Given the description of an element on the screen output the (x, y) to click on. 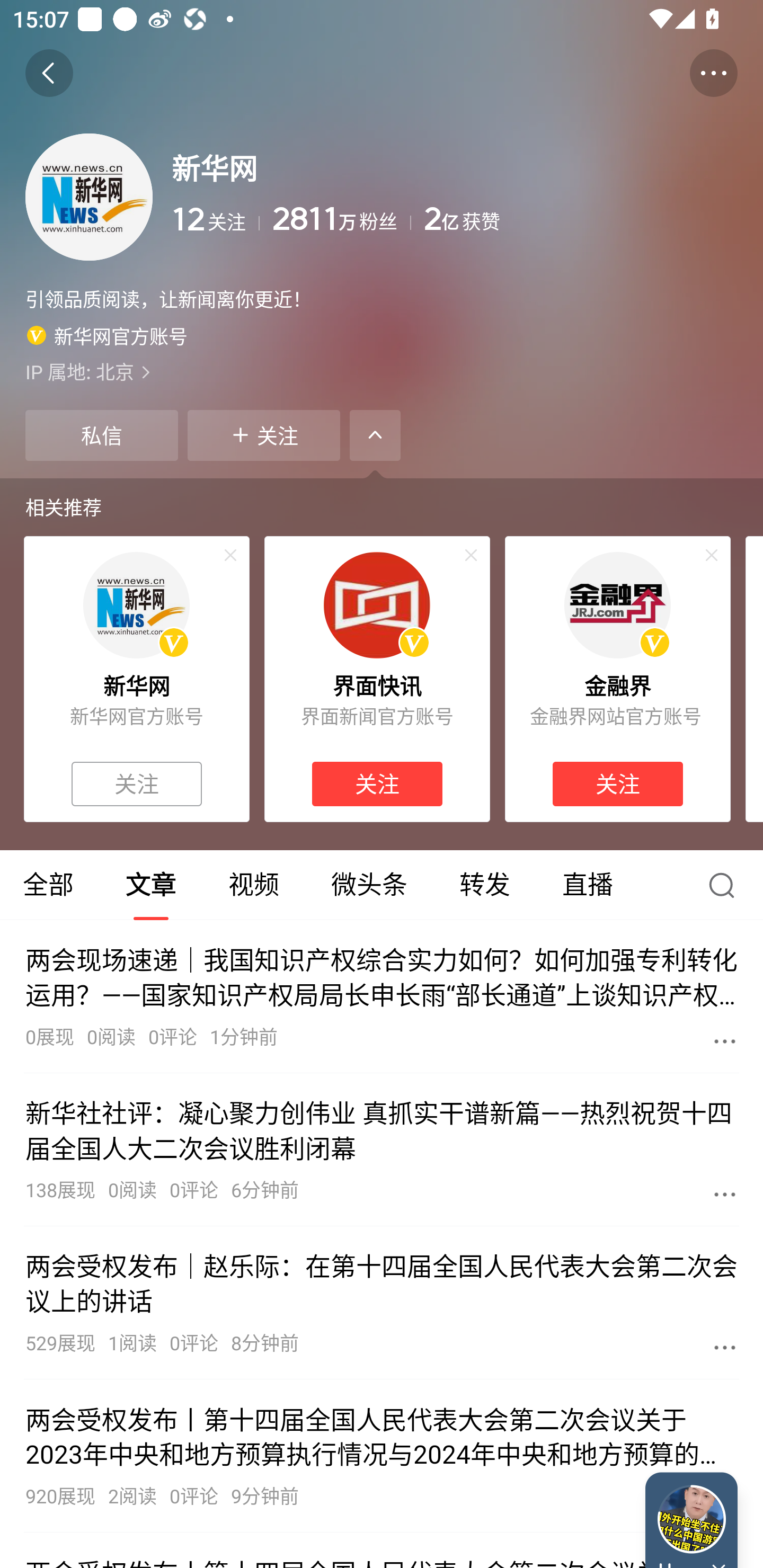
返回 (49, 72)
更多操作 (713, 72)
头像 (88, 196)
12 关注 (215, 219)
2811万 粉丝 (341, 219)
2亿 获赞 (580, 219)
新华网官方账号 (106, 335)
IP 属地: 北京 (381, 371)
私信 (101, 434)
     关注 (263, 434)
展开相关推荐，按钮 (374, 434)
新华网头像 新华网 新华网官方账号 关注 关注 不感兴趣 (136, 678)
不感兴趣 (230, 554)
界面快讯头像 界面快讯 界面新闻官方账号 关注 关注 不感兴趣 (376, 678)
不感兴趣 (470, 554)
金融界头像 金融界 金融界网站官方账号  关注 关注 不感兴趣 (617, 678)
不感兴趣 (711, 554)
新华网头像 (136, 604)
界面快讯头像 (376, 604)
金融界头像 (617, 604)
关注 (136, 783)
关注 (377, 783)
关注 (617, 783)
全部 (49, 884)
文章 (150, 884)
视频 (253, 884)
微头条 (369, 884)
转发 (484, 884)
直播 (587, 884)
搜索 (726, 884)
更多 (724, 1040)
更多 (724, 1193)
更多 (724, 1346)
当前进度 78% (691, 1518)
